Given the description of an element on the screen output the (x, y) to click on. 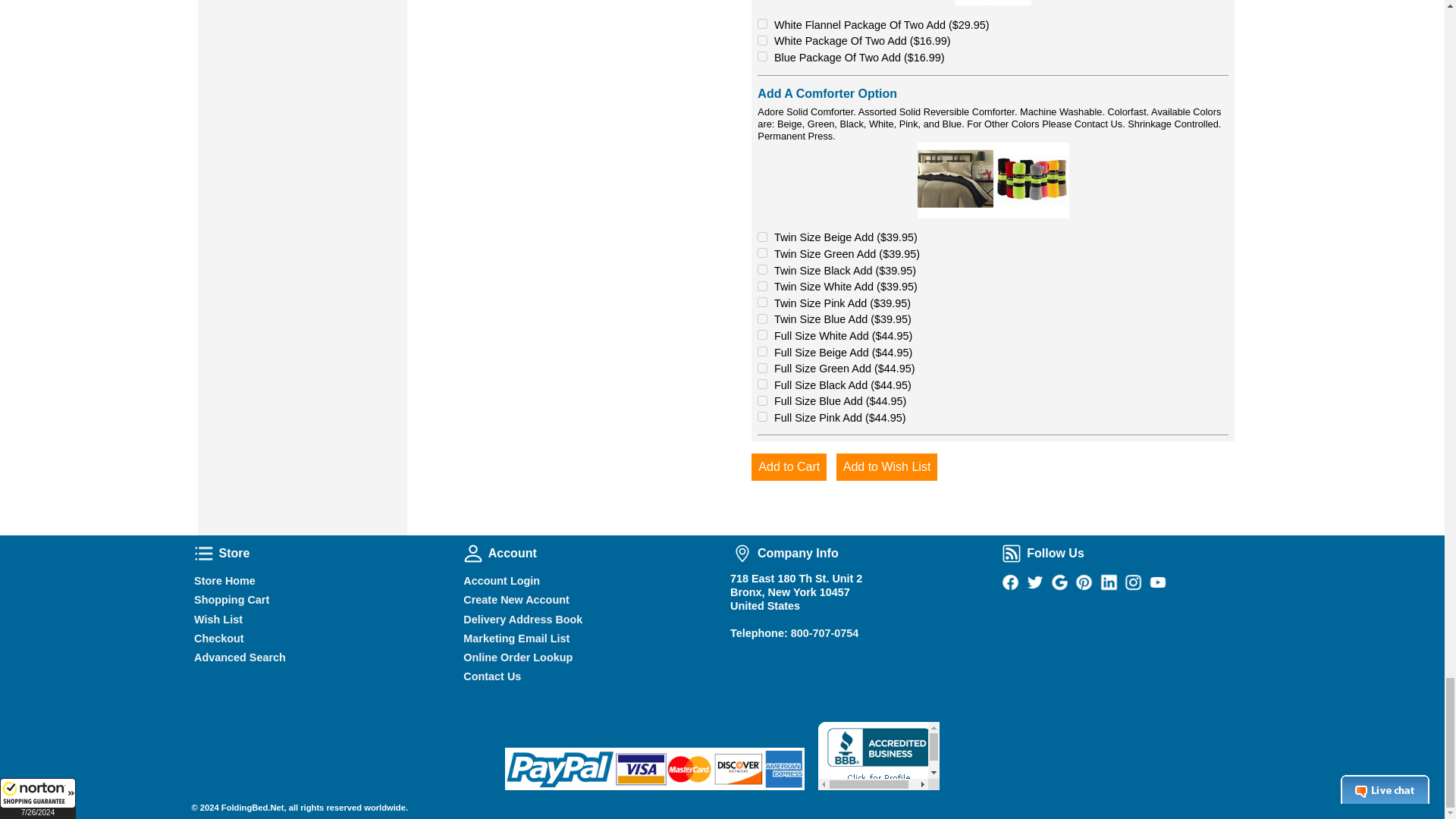
Add to Wish List (886, 466)
Add to Cart (789, 466)
